Given the description of an element on the screen output the (x, y) to click on. 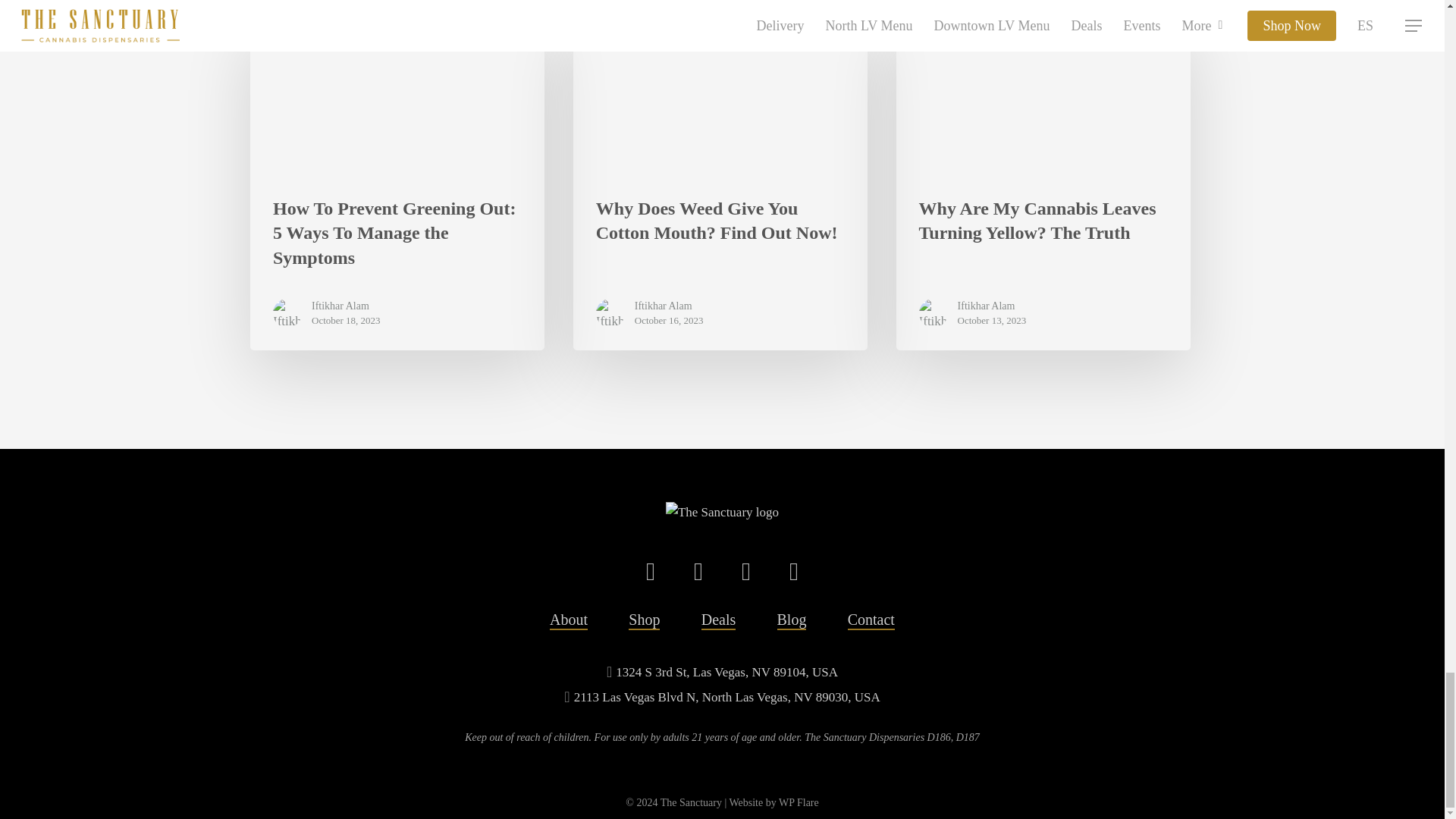
Best Strains for Creativity (397, 95)
WP Flare (798, 802)
Best Strains for Creativity (720, 95)
Best Strains for Creativity (1043, 95)
